Given the description of an element on the screen output the (x, y) to click on. 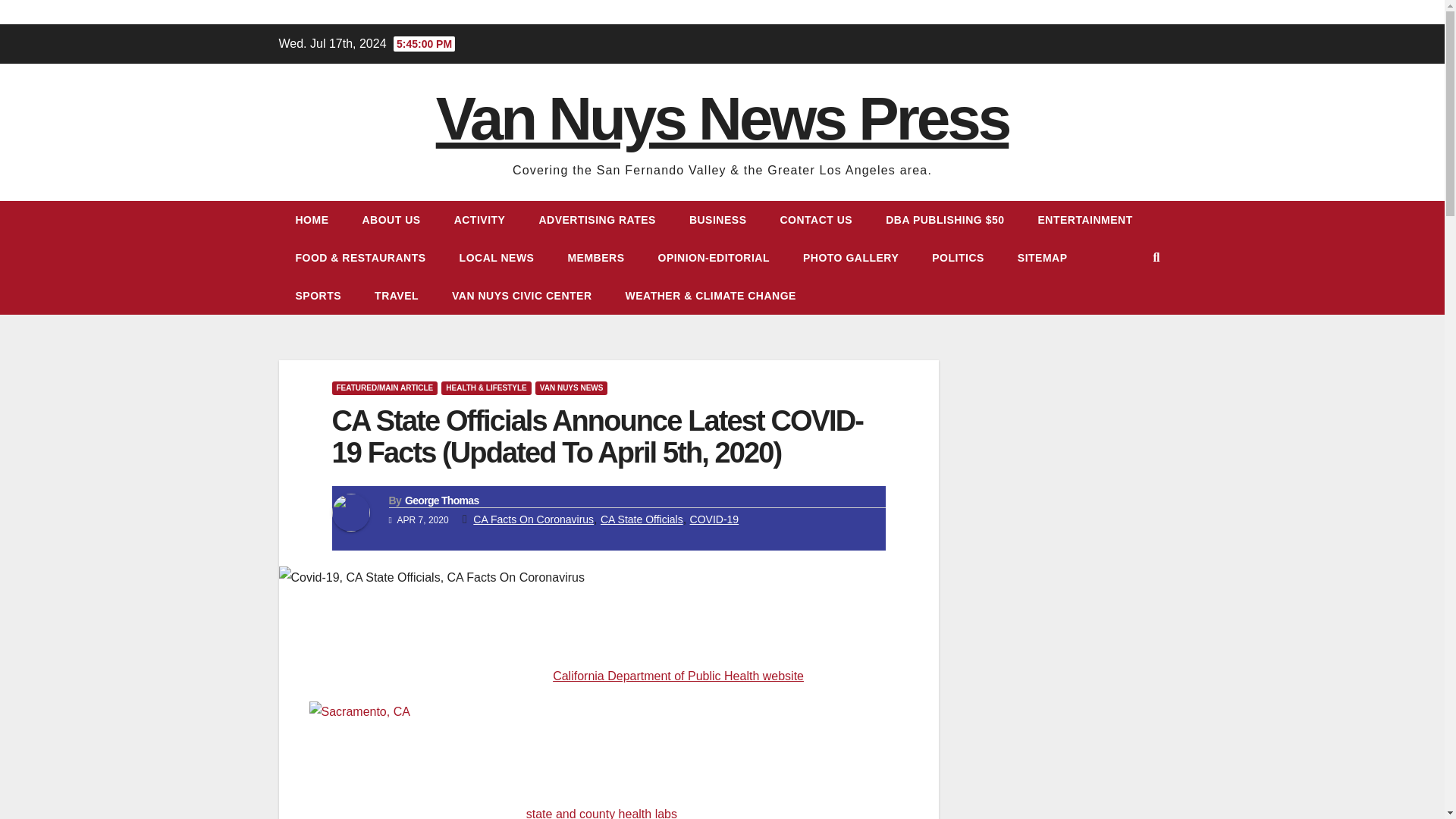
Home (312, 219)
TRAVEL (396, 295)
LOCAL NEWS (496, 257)
ENTERTAINMENT (1084, 219)
CONTACT US (815, 219)
VAN NUYS NEWS (571, 387)
SITEMAP (1042, 257)
OPINION-EDITORIAL (714, 257)
POLITICS (958, 257)
MEMBERS (595, 257)
SPORTS (318, 295)
Map of California COVID 19  Labtories (601, 813)
PHOTO GALLERY (850, 257)
ABOUT US (392, 219)
ADVERTISING RATES (596, 219)
